Given the description of an element on the screen output the (x, y) to click on. 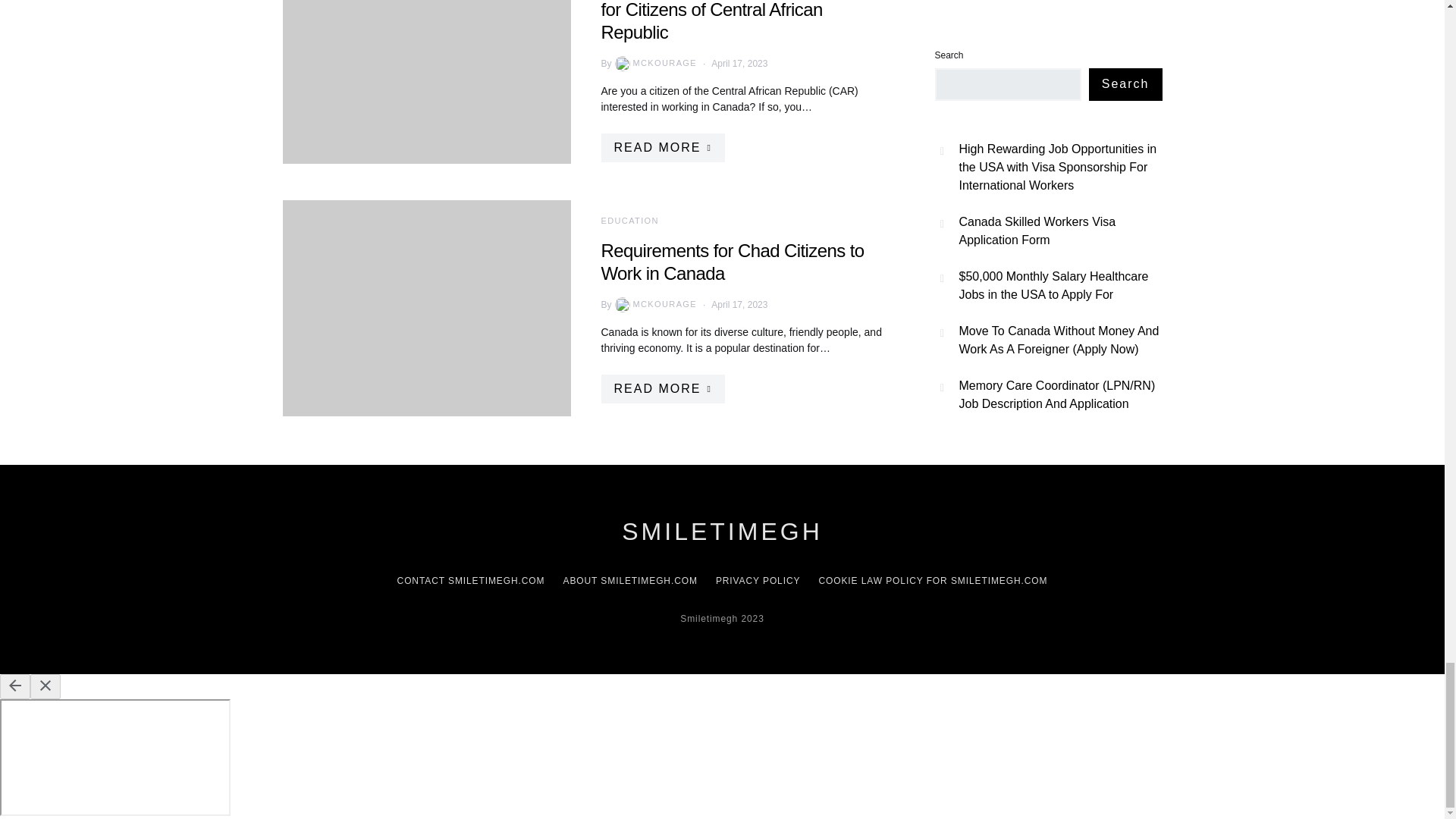
View all posts by Mckourage (654, 63)
View all posts by Mckourage (654, 304)
